Given the description of an element on the screen output the (x, y) to click on. 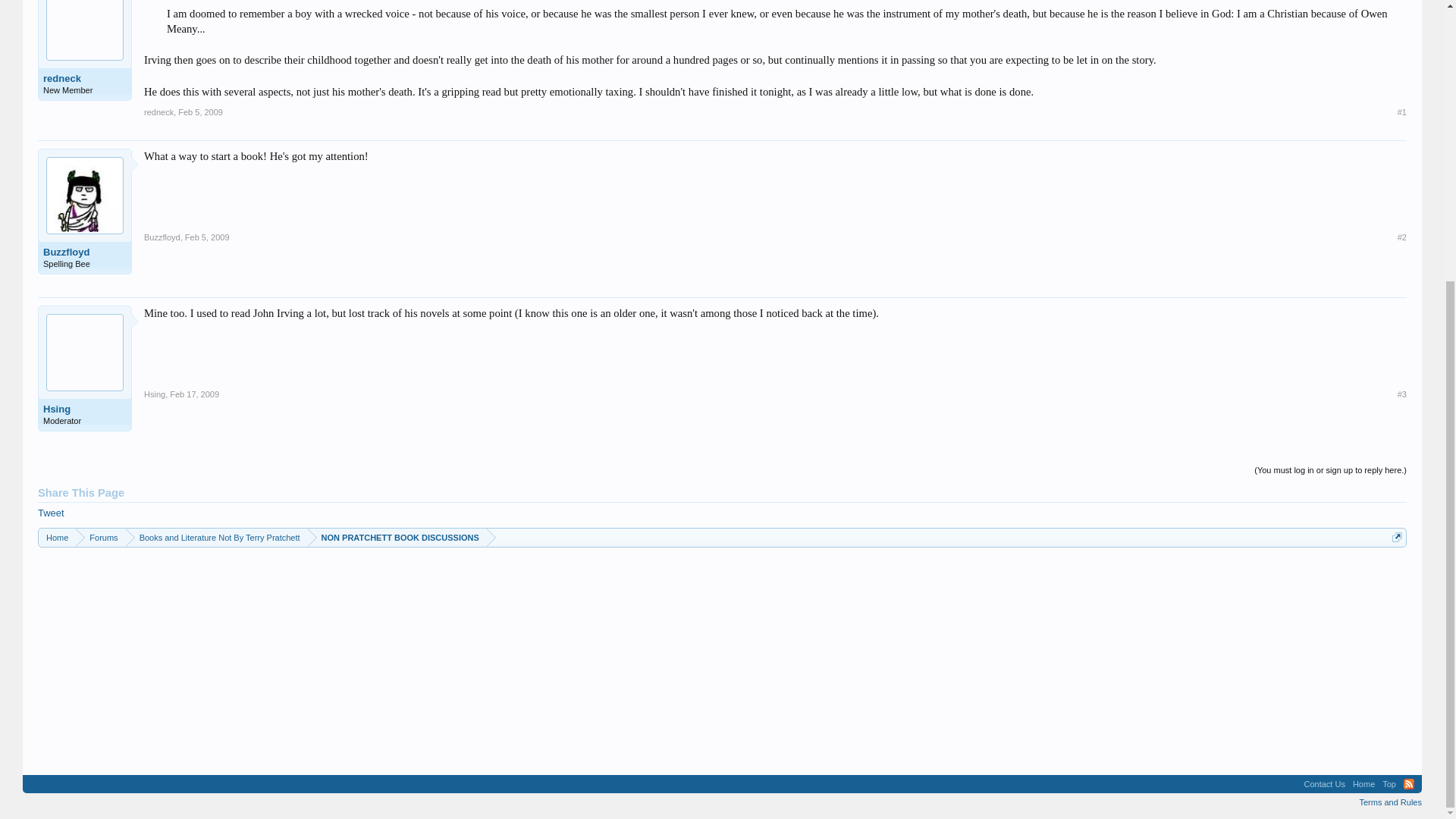
Feb 5, 2009 (199, 112)
Feb 5, 2009 (207, 236)
NON PRATCHETT BOOK DISCUSSIONS (396, 537)
Books and Literature Not By Terry Pratchett (216, 537)
Home (57, 537)
Hsing (154, 393)
Forums (100, 537)
Hsing (84, 409)
Permalink (207, 236)
Open quick navigation (1396, 537)
Tweet (50, 512)
Feb 17, 2009 (194, 393)
Buzzfloyd (162, 236)
redneck (84, 78)
